Given the description of an element on the screen output the (x, y) to click on. 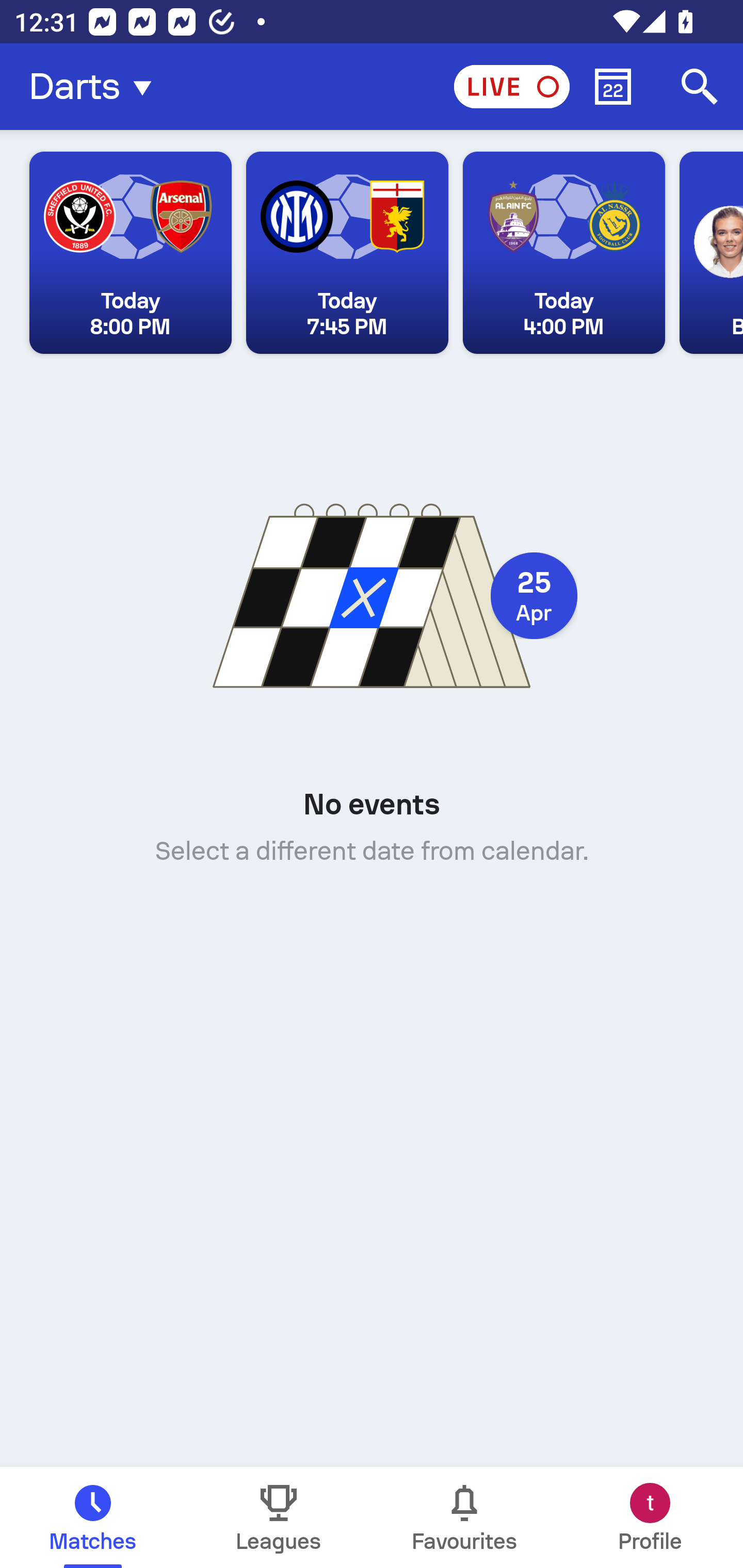
Darts (96, 86)
Calendar (612, 86)
Search (699, 86)
Today
8:00 PM (130, 253)
Today
7:45 PM (346, 253)
Today
4:00 PM (563, 253)
25 Apr (533, 595)
Leagues (278, 1517)
Favourites (464, 1517)
Profile (650, 1517)
